Given the description of an element on the screen output the (x, y) to click on. 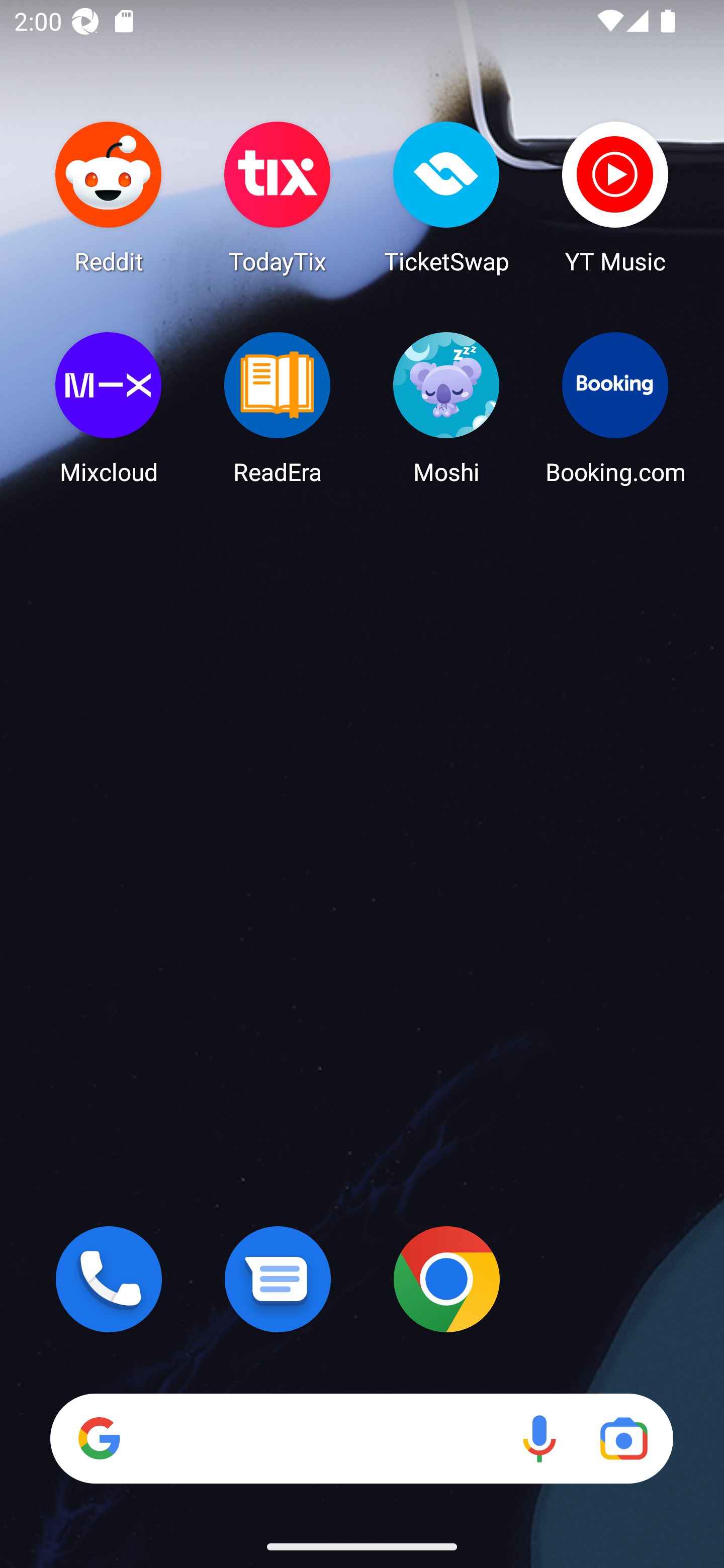
Reddit (108, 196)
TodayTix (277, 196)
TicketSwap (445, 196)
YT Music (615, 196)
Mixcloud (108, 407)
ReadEra (277, 407)
Moshi (445, 407)
Booking.com (615, 407)
Phone (108, 1279)
Messages (277, 1279)
Chrome (446, 1279)
Search Voice search Google Lens (361, 1438)
Voice search (539, 1438)
Google Lens (623, 1438)
